Given the description of an element on the screen output the (x, y) to click on. 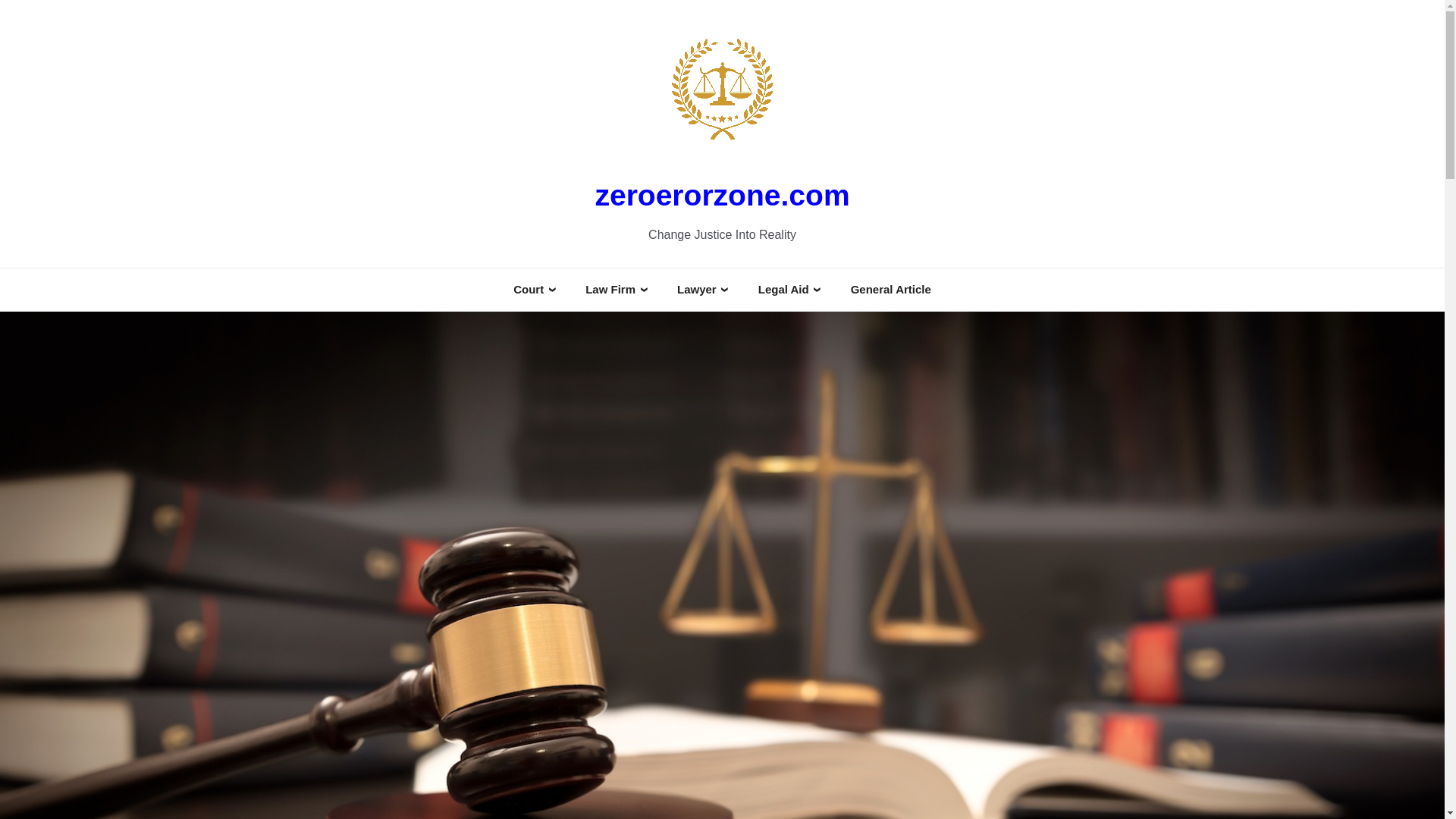
zeroerorzone.com (721, 194)
Court (533, 289)
Immigration Lawyer (730, 408)
Legal Services (797, 430)
Injury Lawyer (713, 430)
Small Claims Court (566, 430)
Law Dictionary (625, 387)
Prosecutor (543, 408)
Divorce Lawyer (719, 365)
Criminal Defense Lawyer (743, 342)
